Given the description of an element on the screen output the (x, y) to click on. 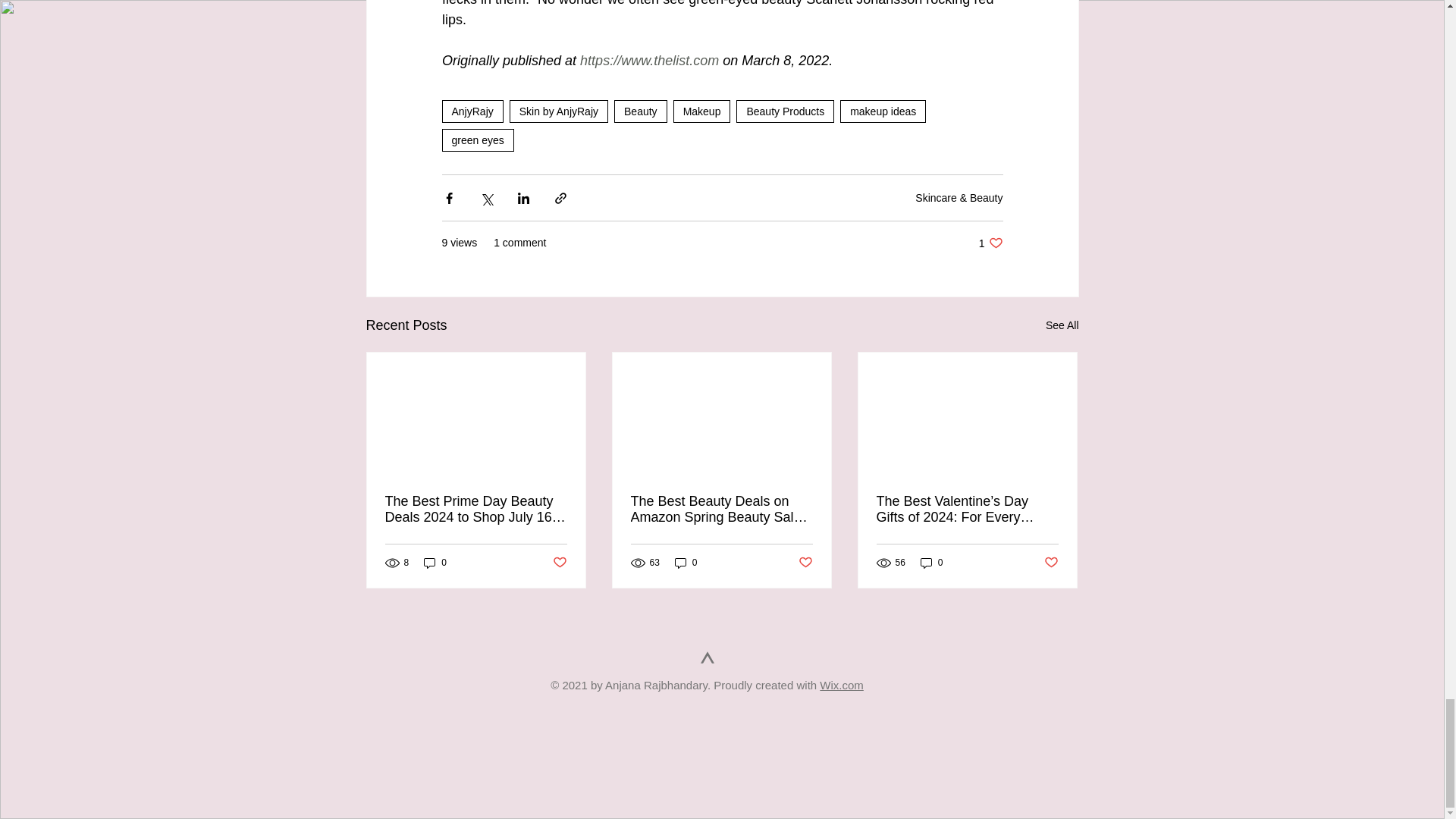
makeup ideas (883, 110)
green eyes (477, 139)
AnjyRajy (471, 110)
Makeup (701, 110)
Skin by AnjyRajy (558, 110)
Beauty (640, 110)
Beauty Products (785, 110)
